Given the description of an element on the screen output the (x, y) to click on. 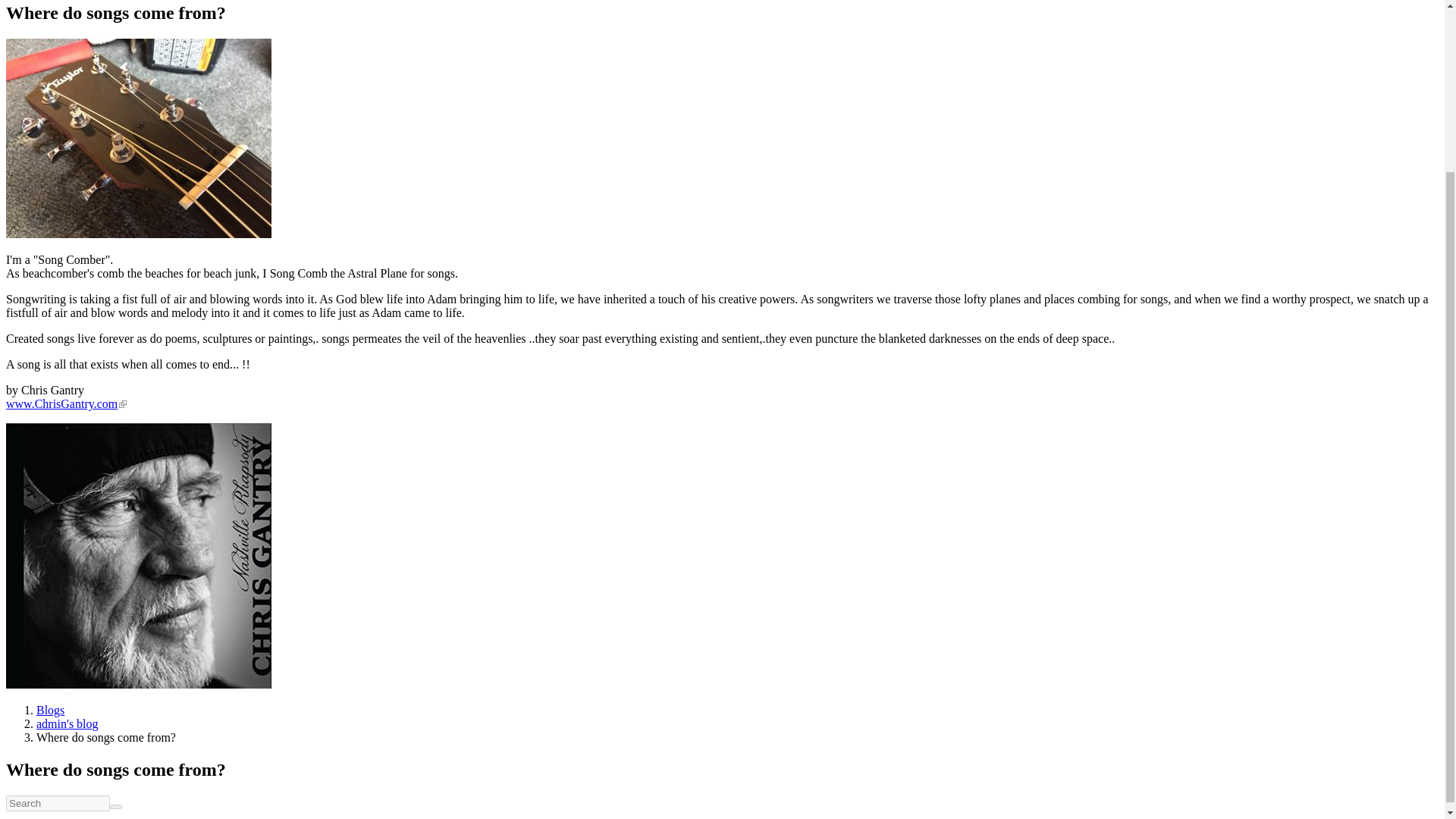
Search (27, 813)
Blogs (50, 709)
admin's blog (67, 723)
Chris Gantry (137, 138)
Enter the terms you wish to search for. (57, 803)
Chris Gantry (137, 555)
